Given the description of an element on the screen output the (x, y) to click on. 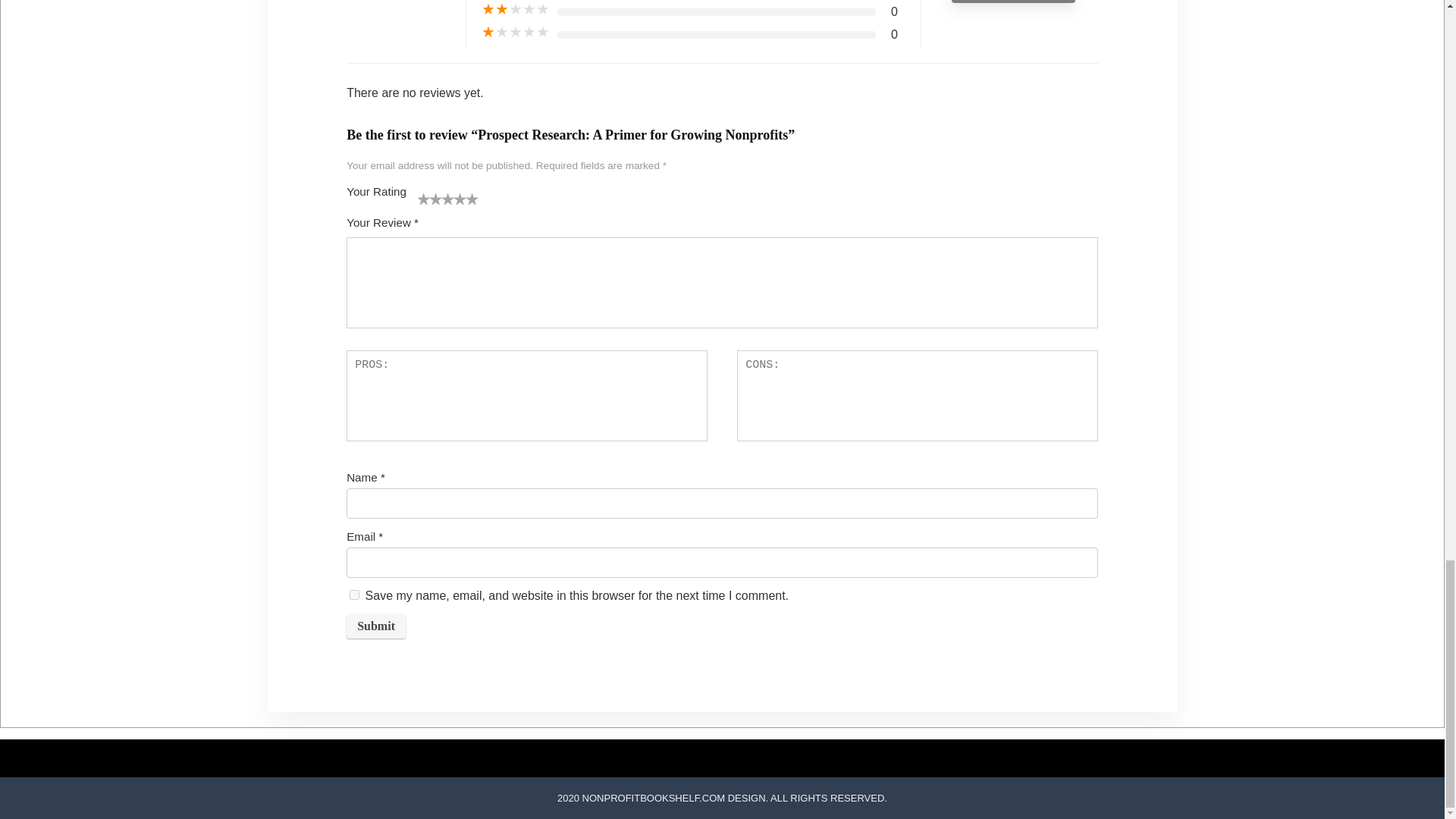
yes (354, 594)
WRITE A REVIEW (1013, 1)
Submit (376, 626)
Rated 1 out of 5 (515, 32)
Rated 2 out of 5 (515, 9)
